Given the description of an element on the screen output the (x, y) to click on. 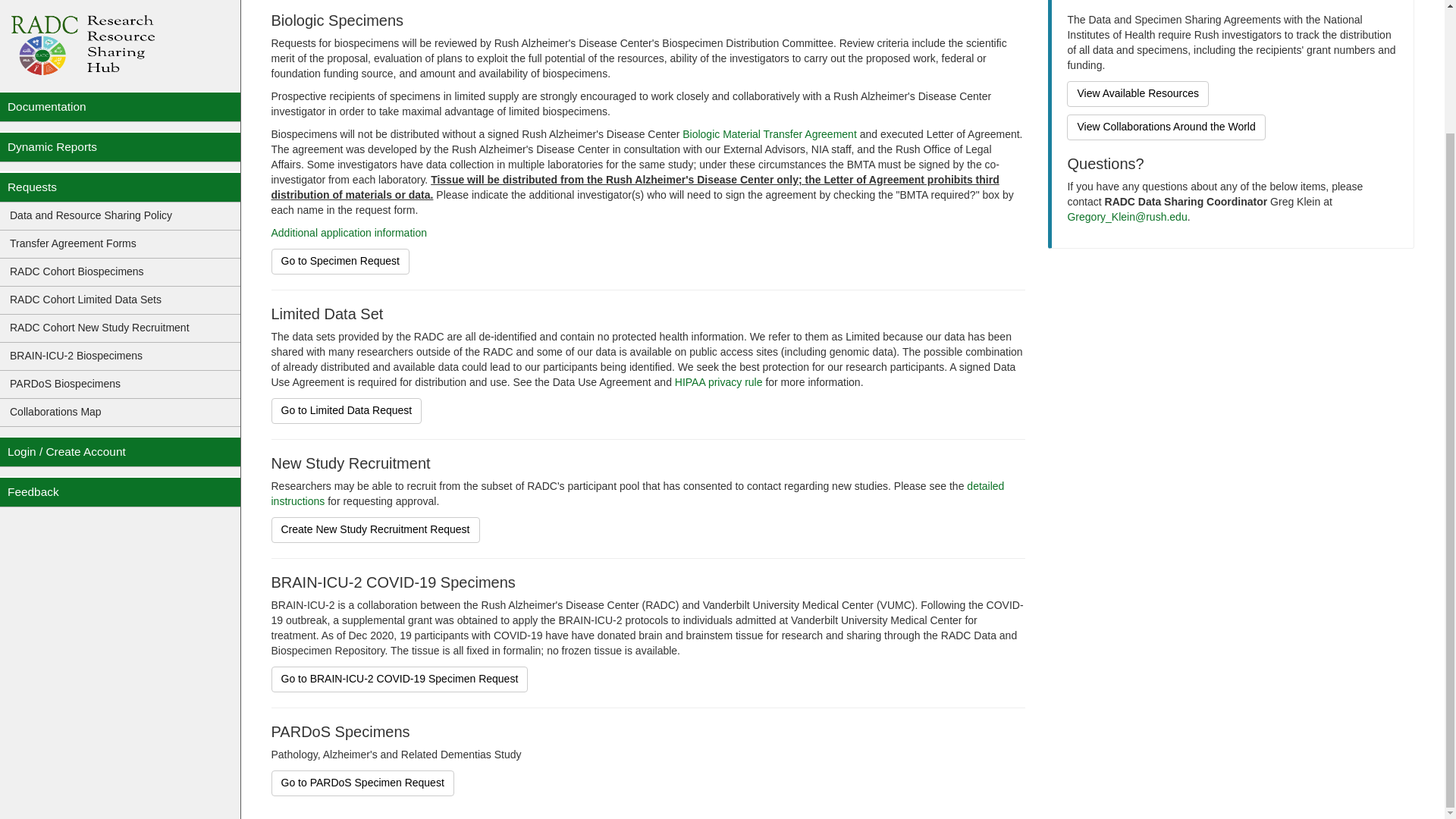
Collaborations Map (120, 264)
Go to Limited Data Request (346, 411)
Transfer Agreement Forms (120, 96)
Biologic Material Transfer Agreement (769, 133)
BRAIN-ICU-2 Biospecimens (120, 208)
Go to BRAIN-ICU-2 COVID-19 Specimen Request (399, 679)
Go to Specimen Request (339, 261)
detailed instructions (637, 492)
Dynamic Reports (120, 7)
RADC Cohort Limited Data Sets (120, 152)
View Collaborations Around the World (1166, 127)
PARDoS Biospecimens (120, 236)
RADC Cohort Biospecimens (120, 124)
HIPAA privacy rule (720, 381)
Data and Resource Sharing Policy (120, 68)
